Given the description of an element on the screen output the (x, y) to click on. 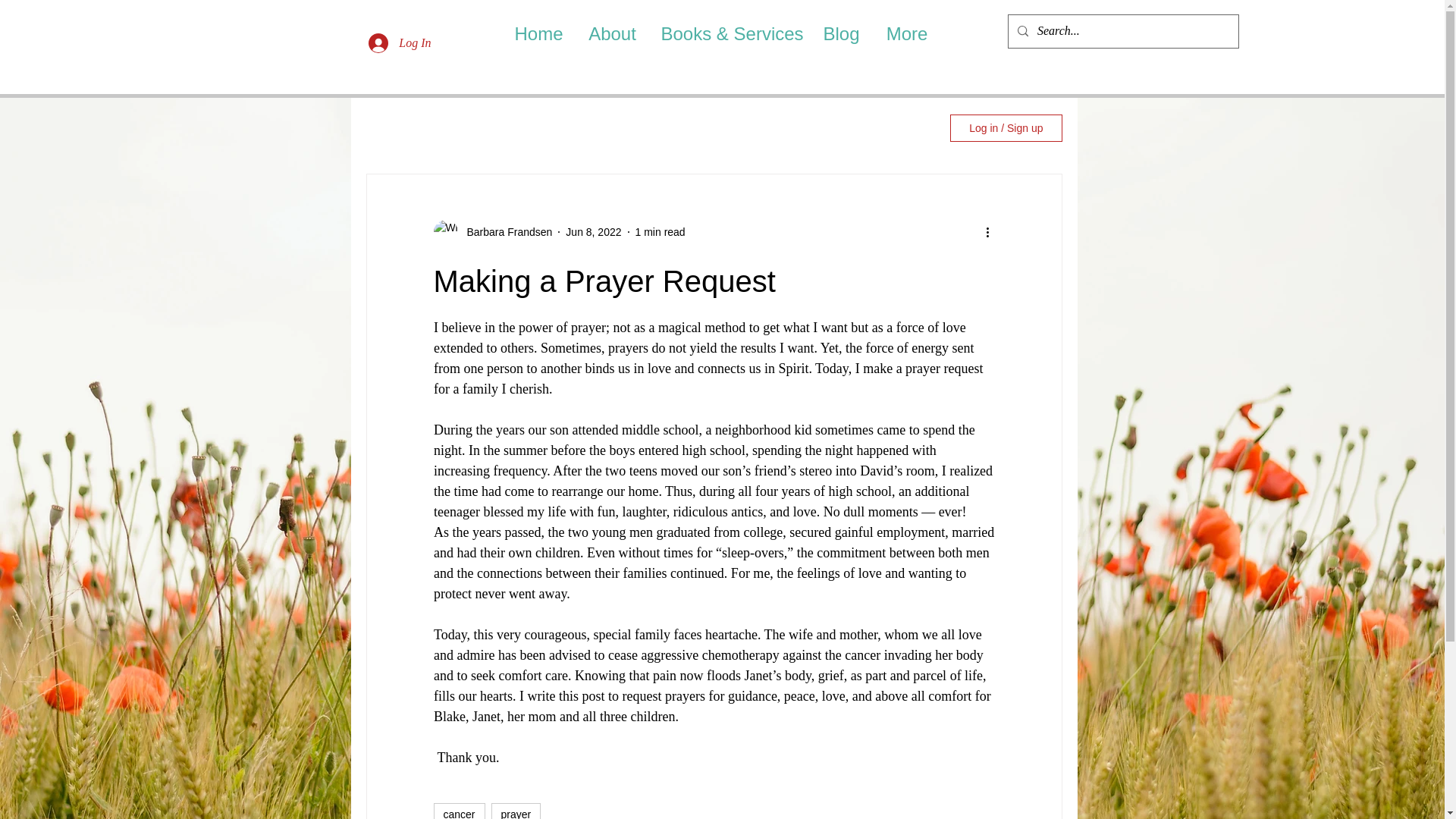
Barbara Frandsen (505, 232)
Log In (399, 42)
1 min read (659, 232)
Barbara Frandsen (493, 232)
cancer (458, 811)
prayer (516, 811)
Jun 8, 2022 (593, 232)
Home (538, 33)
About (612, 33)
Blog (840, 33)
